Given the description of an element on the screen output the (x, y) to click on. 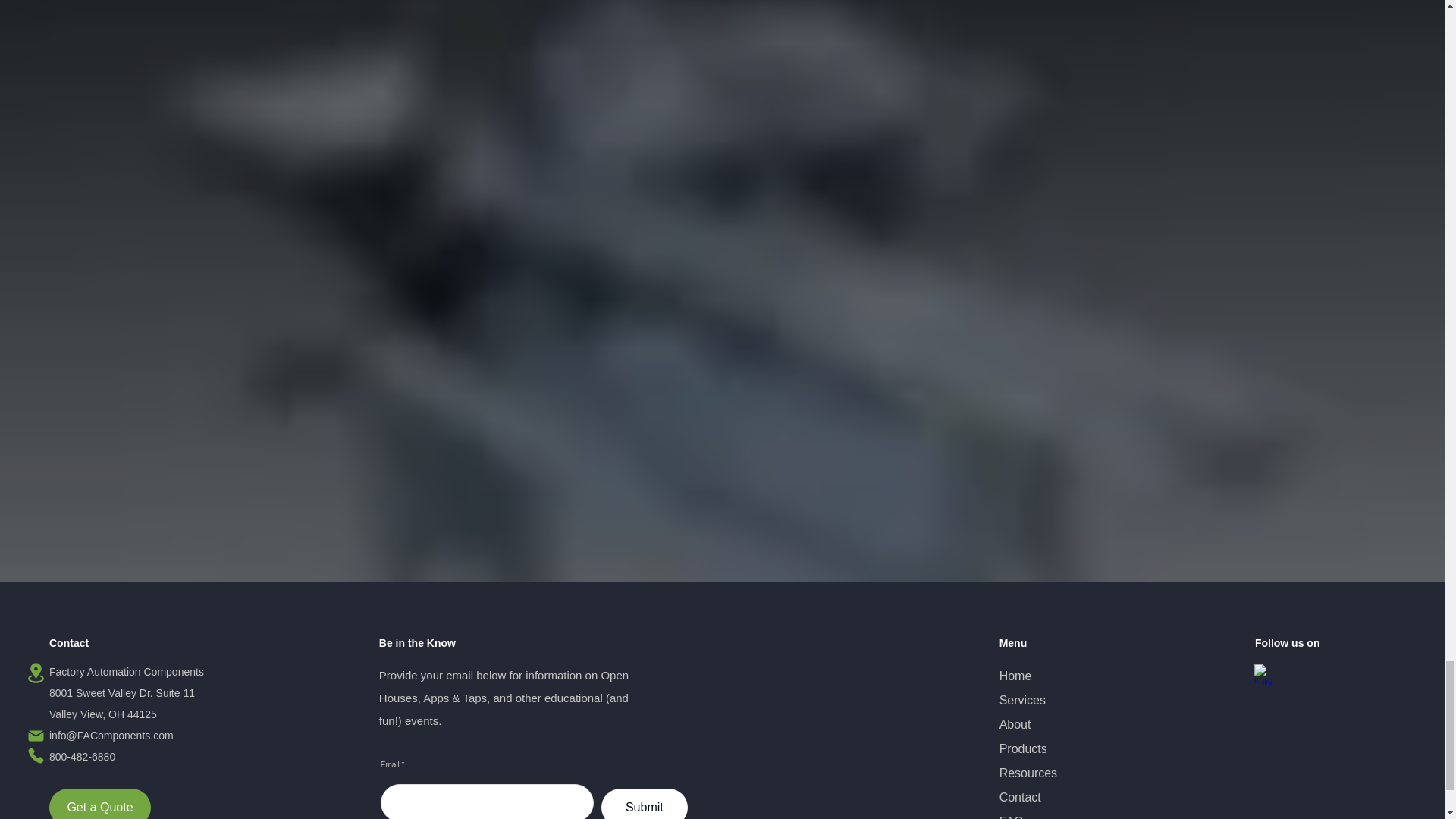
Services (1021, 699)
Submit (644, 803)
Get a Quote (100, 803)
About (1014, 724)
Contact (1019, 797)
Products (1022, 748)
FAQ (1010, 816)
Resources (1027, 772)
Home (1015, 675)
